Given the description of an element on the screen output the (x, y) to click on. 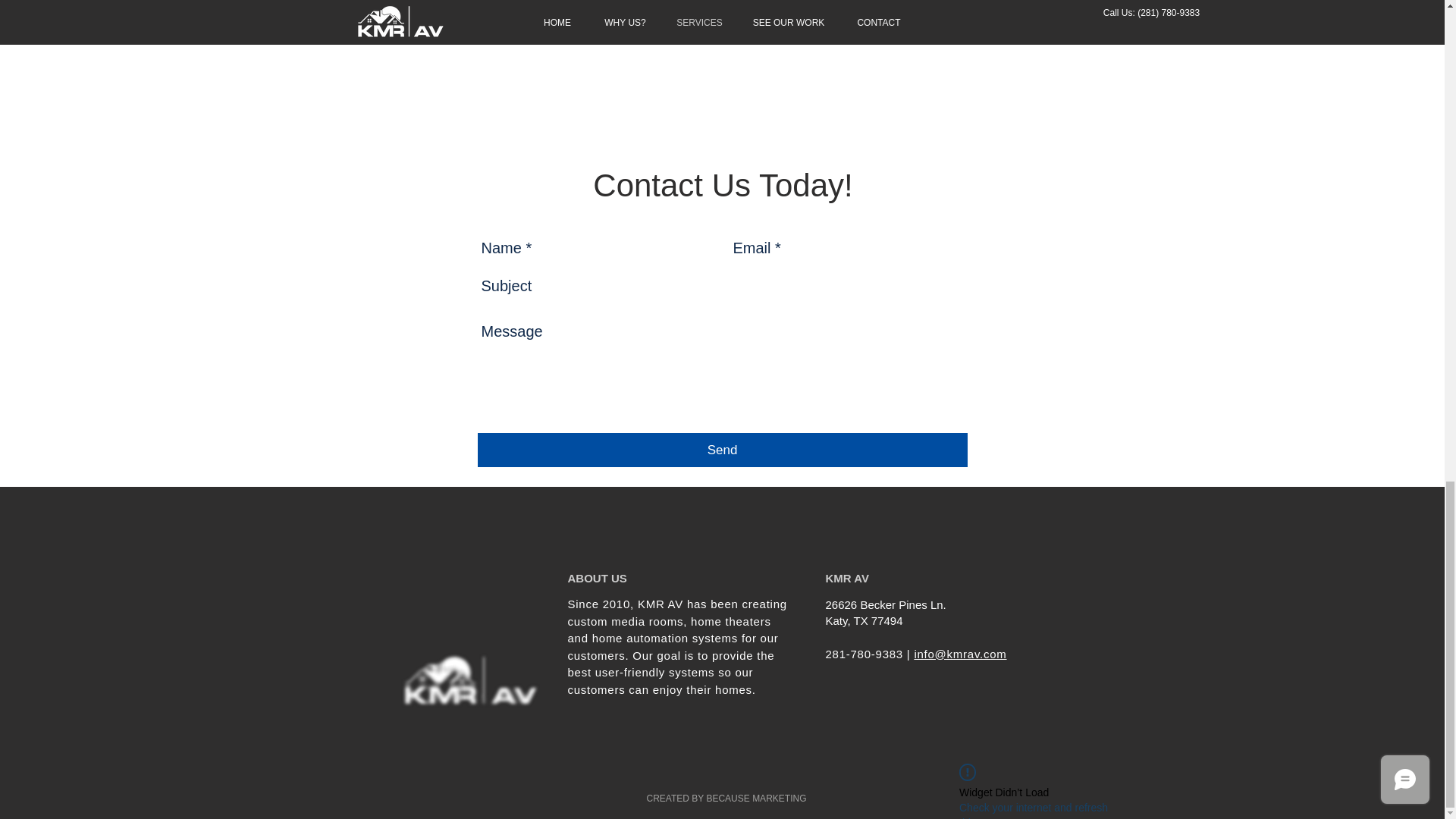
Send (722, 449)
